Given the description of an element on the screen output the (x, y) to click on. 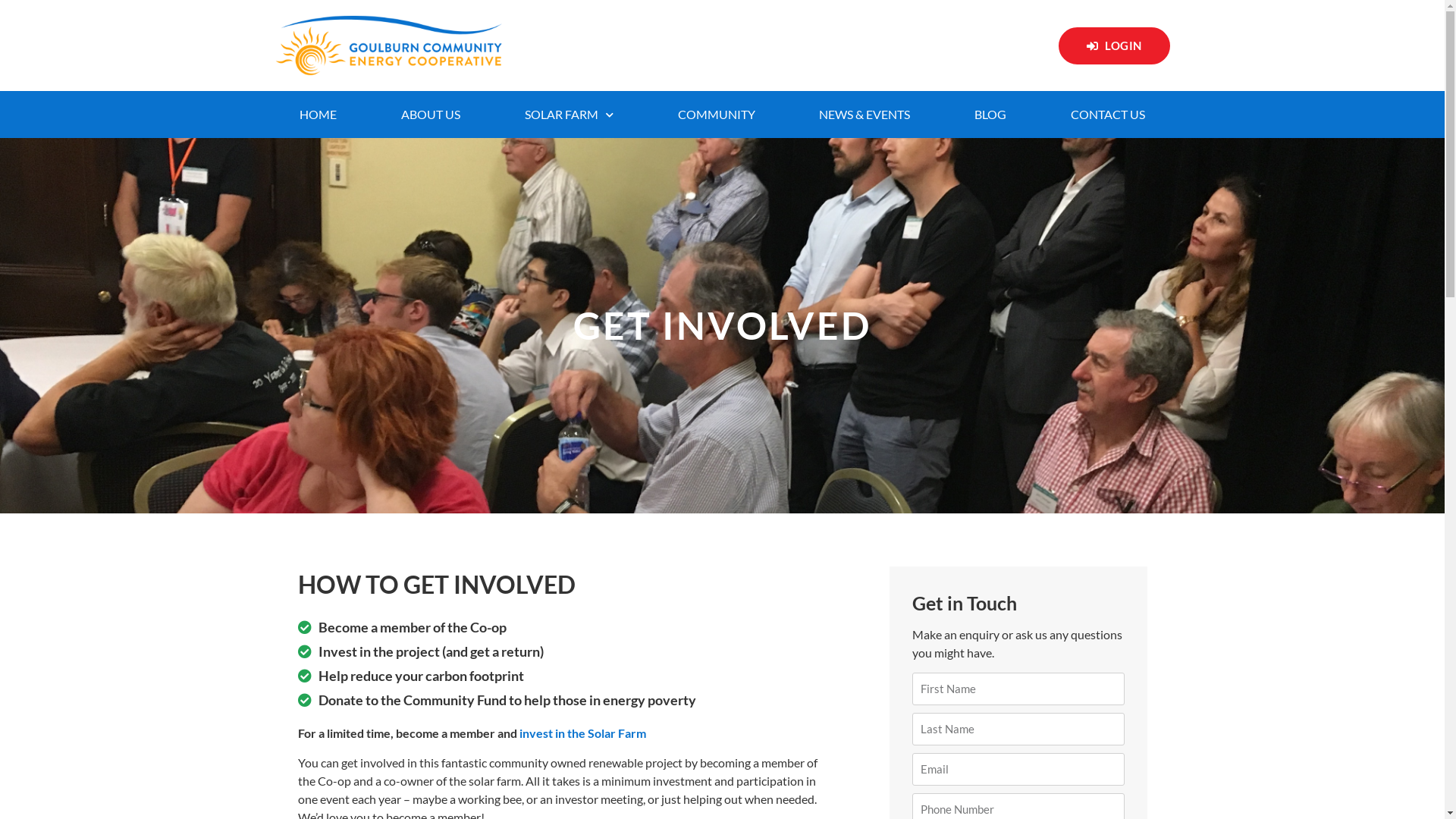
COMMUNITY Element type: text (716, 114)
SOLAR FARM Element type: text (568, 114)
invest in the Solar Farm Element type: text (581, 732)
ABOUT US Element type: text (430, 114)
CONTACT US Element type: text (1107, 114)
LOGIN Element type: text (1114, 45)
BLOG Element type: text (990, 114)
NEWS & EVENTS Element type: text (864, 114)
HOME Element type: text (317, 114)
